Given the description of an element on the screen output the (x, y) to click on. 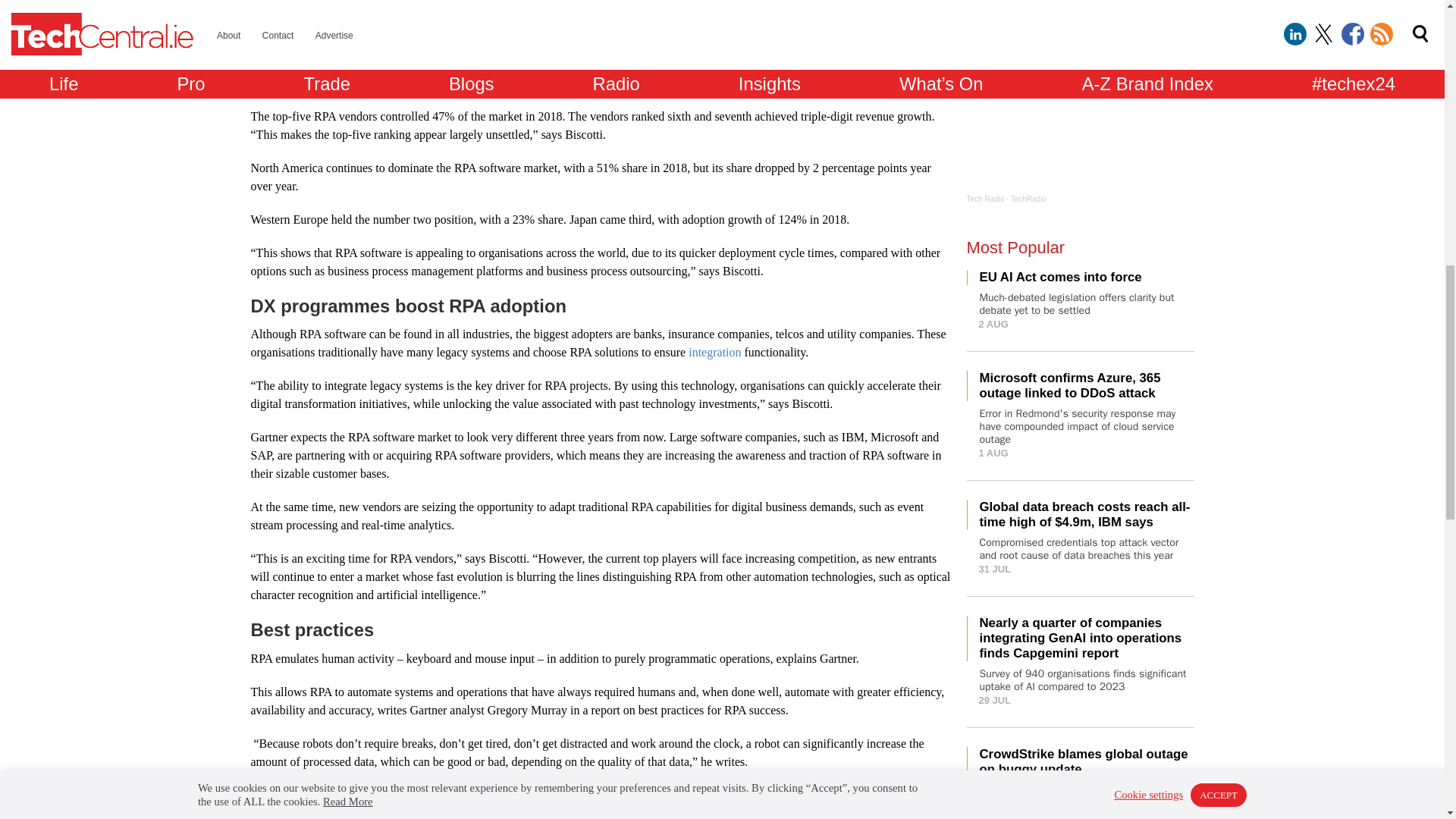
Tech Radio (985, 198)
TechRadio (1028, 198)
